Given the description of an element on the screen output the (x, y) to click on. 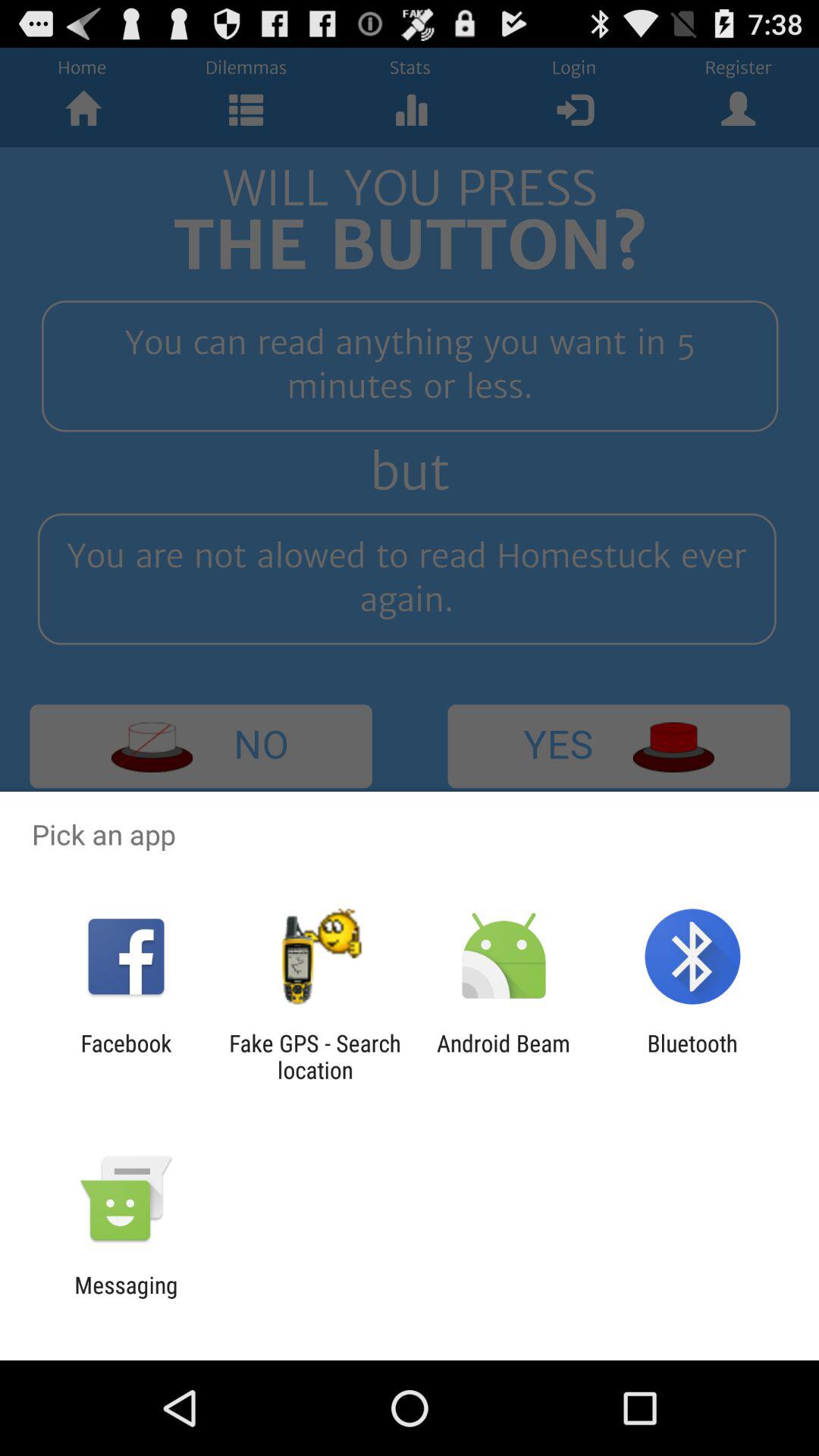
select the android beam (503, 1056)
